Given the description of an element on the screen output the (x, y) to click on. 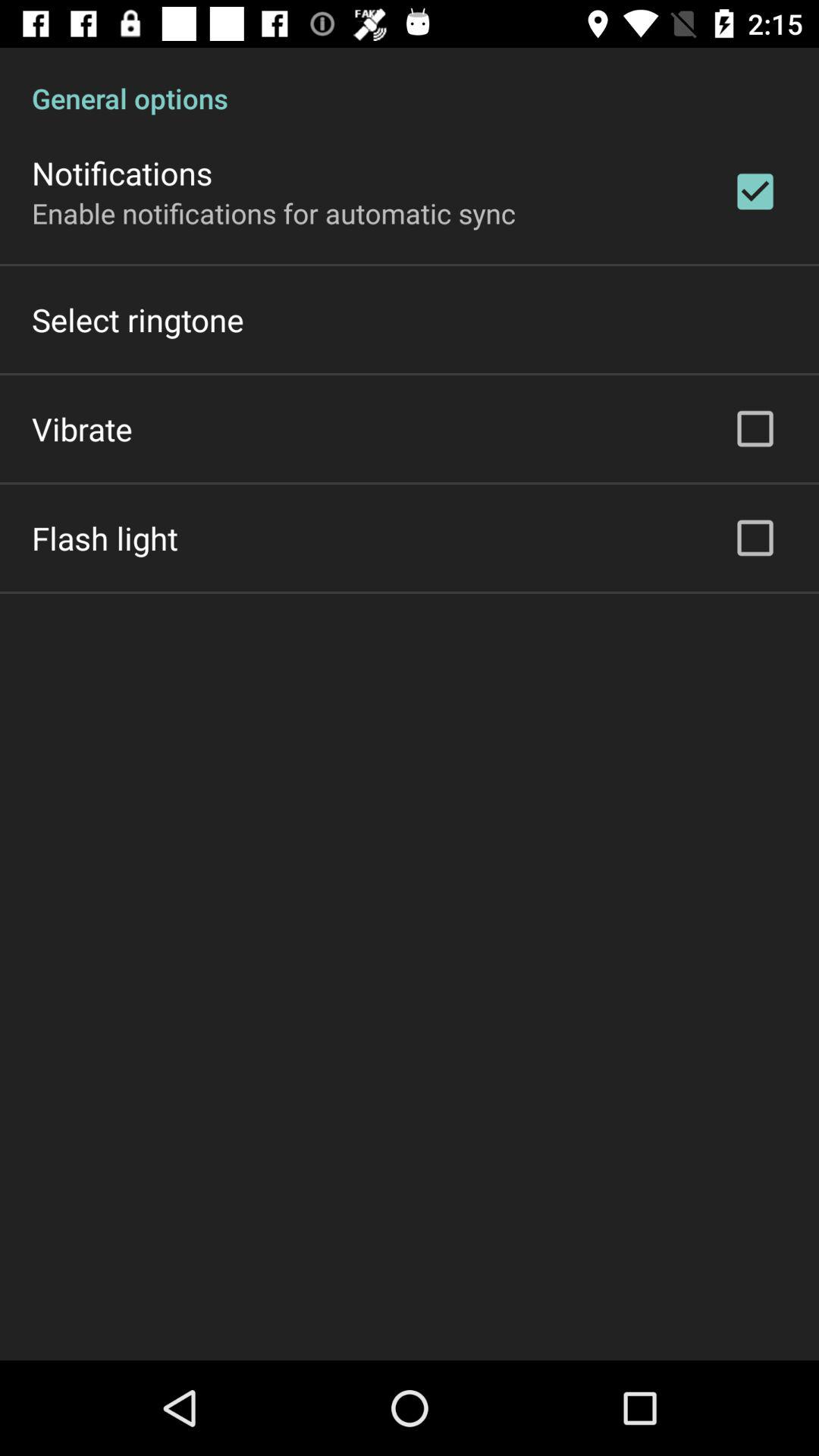
flip to the enable notifications for item (273, 213)
